Given the description of an element on the screen output the (x, y) to click on. 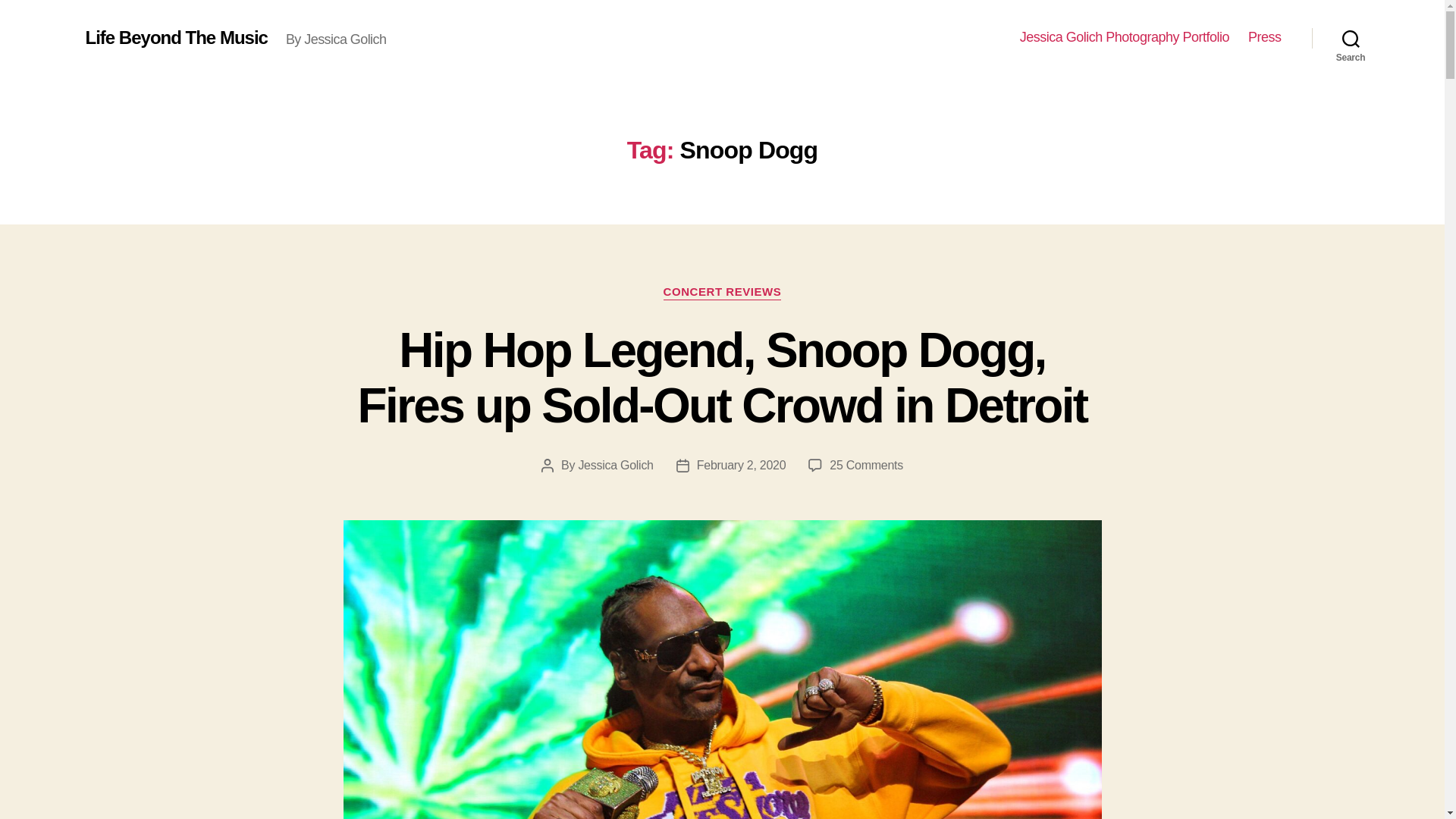
Jessica Golich (615, 464)
Search (1350, 37)
CONCERT REVIEWS (722, 292)
February 2, 2020 (741, 464)
Jessica Golich Photography Portfolio (1124, 37)
Life Beyond The Music (175, 37)
Press (1264, 37)
